Given the description of an element on the screen output the (x, y) to click on. 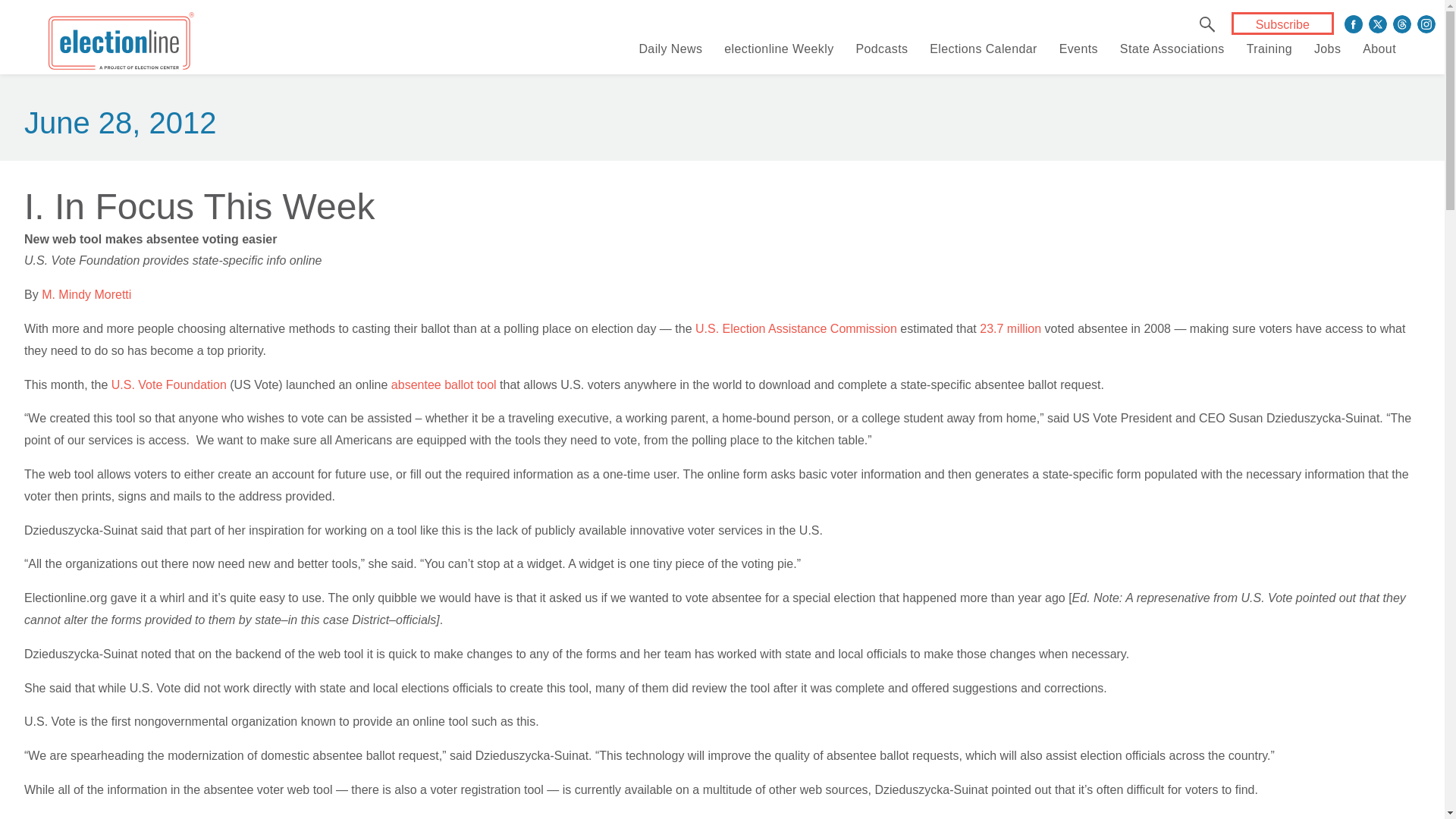
Daily News (670, 48)
absentee ballot tool (443, 384)
electionline (120, 44)
Twitter (1377, 24)
U.S. Election Assistance Commission (795, 328)
Training (1269, 48)
Podcasts (881, 48)
electionline Weekly (777, 48)
23.7 million (1010, 328)
M. Mindy Moretti (86, 294)
Elections Calendar (983, 48)
U.S. Vote Foundation (169, 384)
Jobs (1327, 48)
About (1379, 48)
Events (1078, 48)
